Given the description of an element on the screen output the (x, y) to click on. 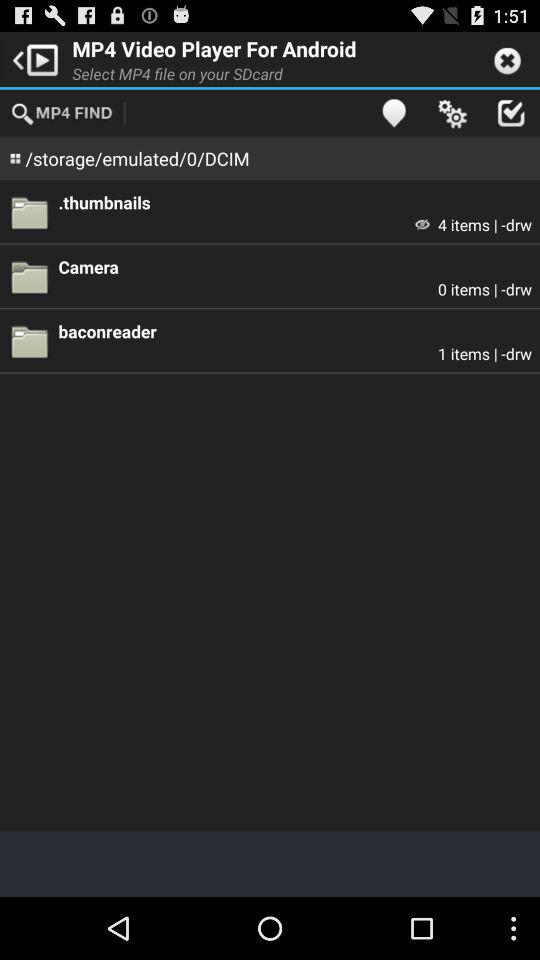
choose app next to the select mp4 file item (393, 112)
